Given the description of an element on the screen output the (x, y) to click on. 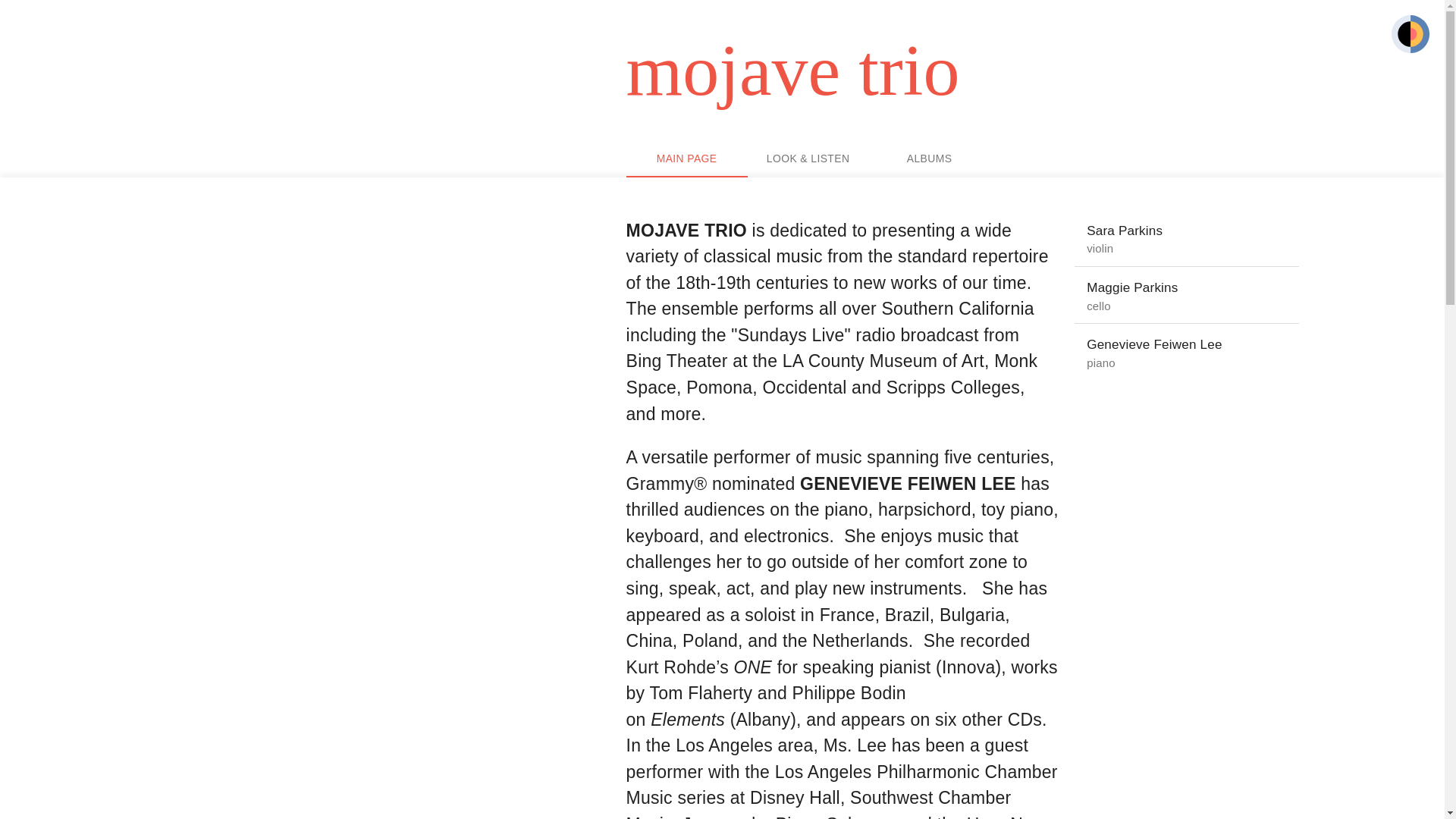
Menu (1410, 35)
MAIN PAGE (687, 158)
ALBUMS (929, 158)
